Given the description of an element on the screen output the (x, y) to click on. 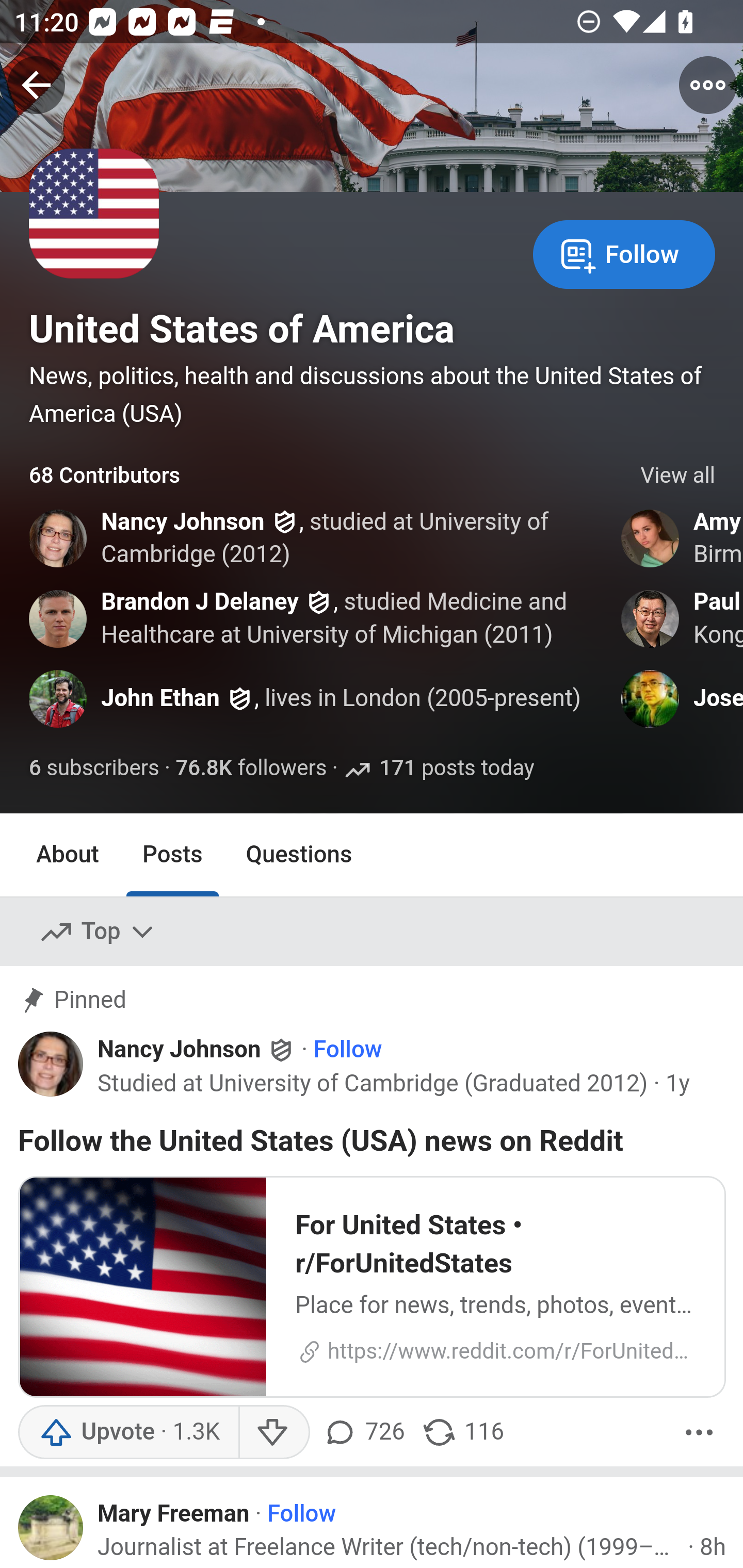
Follow (623, 252)
United States of America (241, 329)
View all (677, 475)
Nancy Johnson (183, 521)
Profile photo for Nancy Johnson (58, 538)
Profile photo for Amy Rees (650, 538)
Brandon J Delaney (200, 601)
Profile photo for Brandon J Delaney (58, 617)
Profile photo for Paul Denlinger (650, 617)
Profile photo for John Ethan (58, 699)
Profile photo for Joseph Boyle (650, 699)
John Ethan (160, 699)
About (68, 854)
Posts (171, 854)
Questions (299, 854)
Top (97, 931)
Profile photo for Nancy Johnson (50, 1063)
Nancy Johnson Nancy Johnson   (196, 1049)
Follow (347, 1051)
Upvote (127, 1431)
Downvote (273, 1431)
726 comments (365, 1431)
116 shares (461, 1431)
More (699, 1431)
Profile photo for Mary Freeman (50, 1527)
Mary Freeman (174, 1513)
Follow (302, 1513)
